Given the description of an element on the screen output the (x, y) to click on. 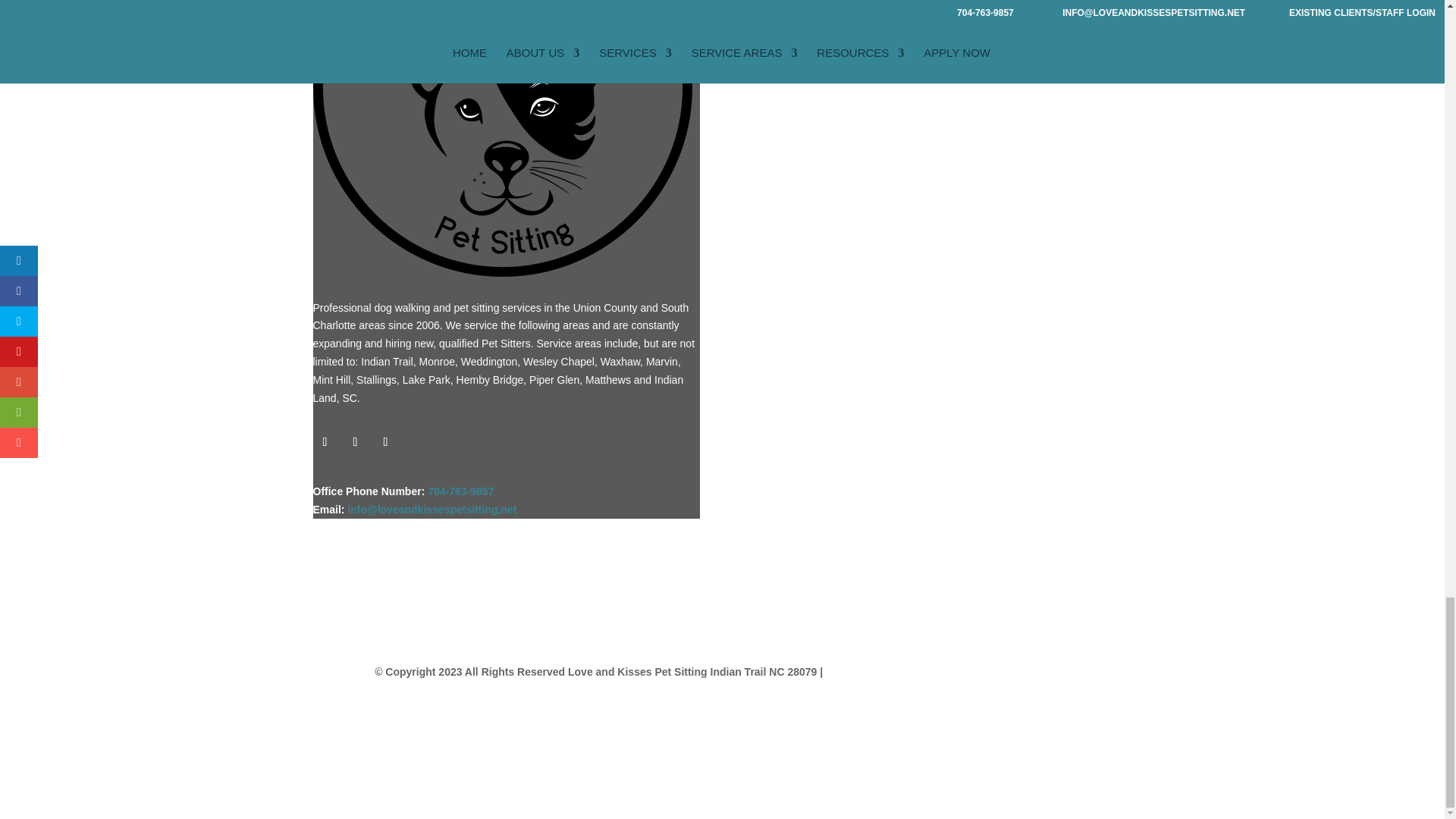
Love and Kisses Pet Sitting Logo Black (502, 138)
Follow on Facebook (324, 441)
Follow on Instagram (354, 441)
Follow on Youtube (384, 441)
